Given the description of an element on the screen output the (x, y) to click on. 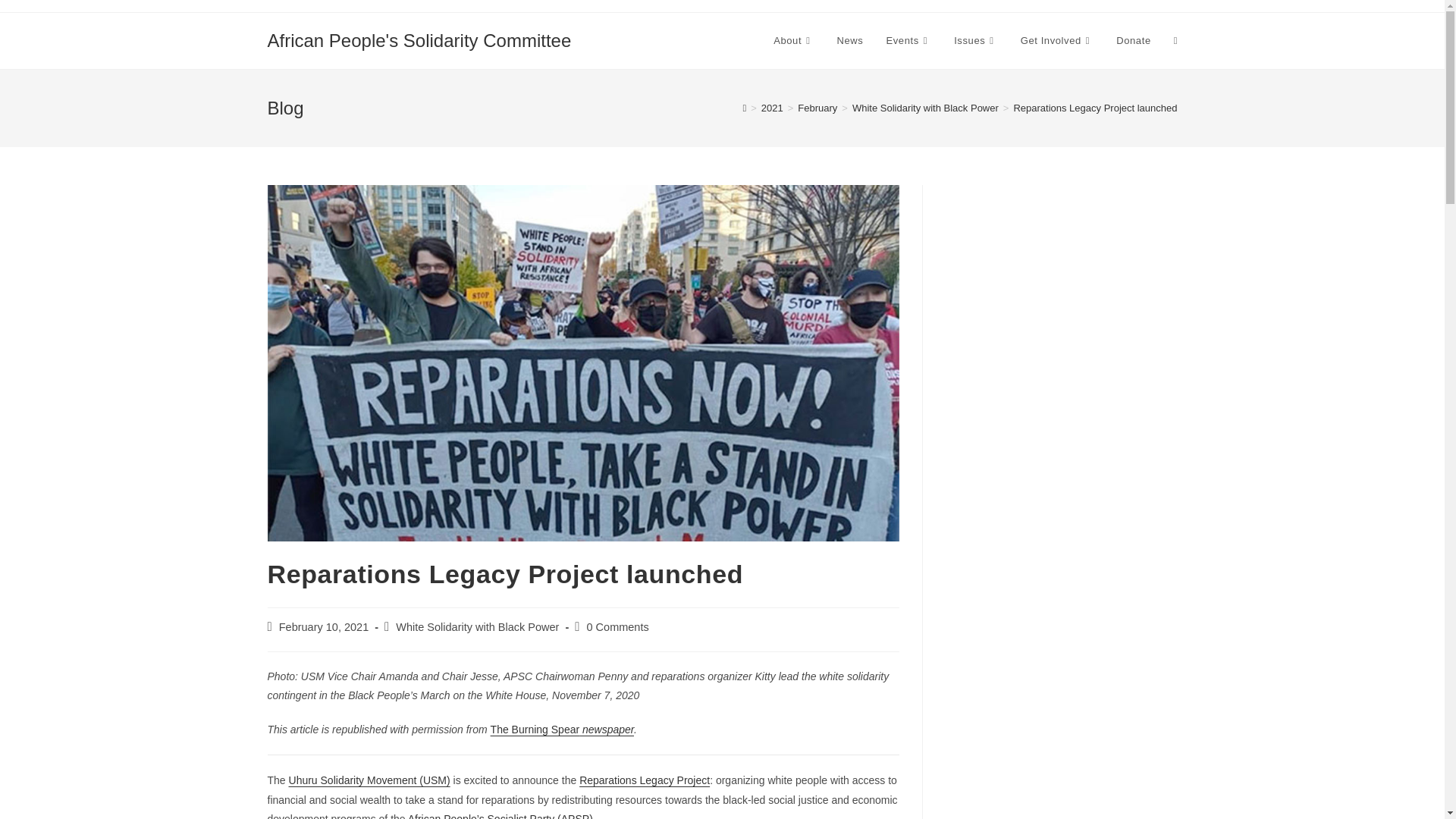
Reparations Legacy Project (644, 779)
Events (908, 40)
Get Involved (1057, 40)
News (850, 40)
Donate (1133, 40)
Issues (975, 40)
African People's Solidarity Committee (418, 40)
About (793, 40)
